Given the description of an element on the screen output the (x, y) to click on. 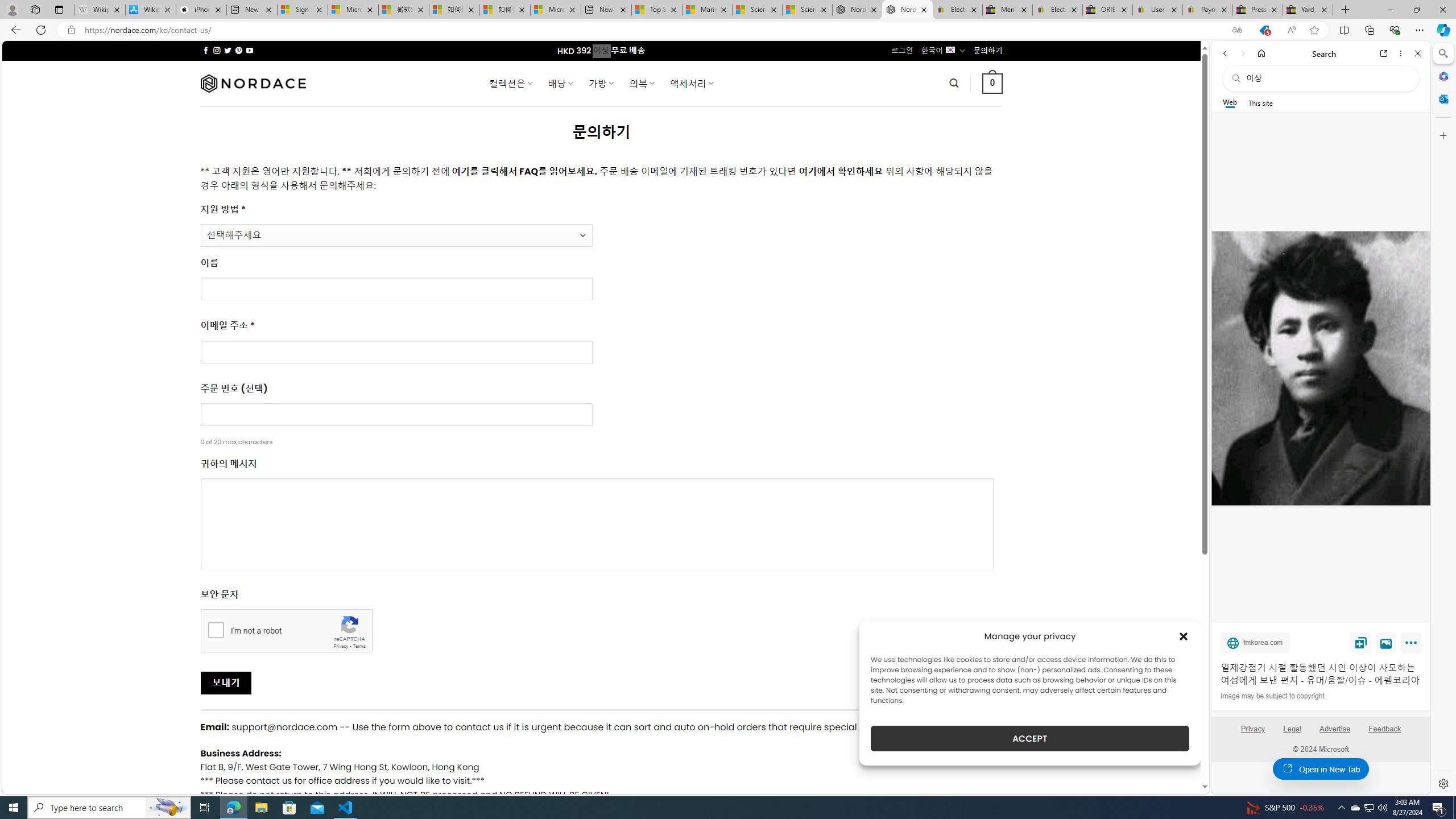
Search the web (1326, 78)
Press Room - eBay Inc. (1257, 9)
iPhone - Apple (201, 9)
Wikipedia - Sleeping (99, 9)
Yard, Garden & Outdoor Living (1308, 9)
